Given the description of an element on the screen output the (x, y) to click on. 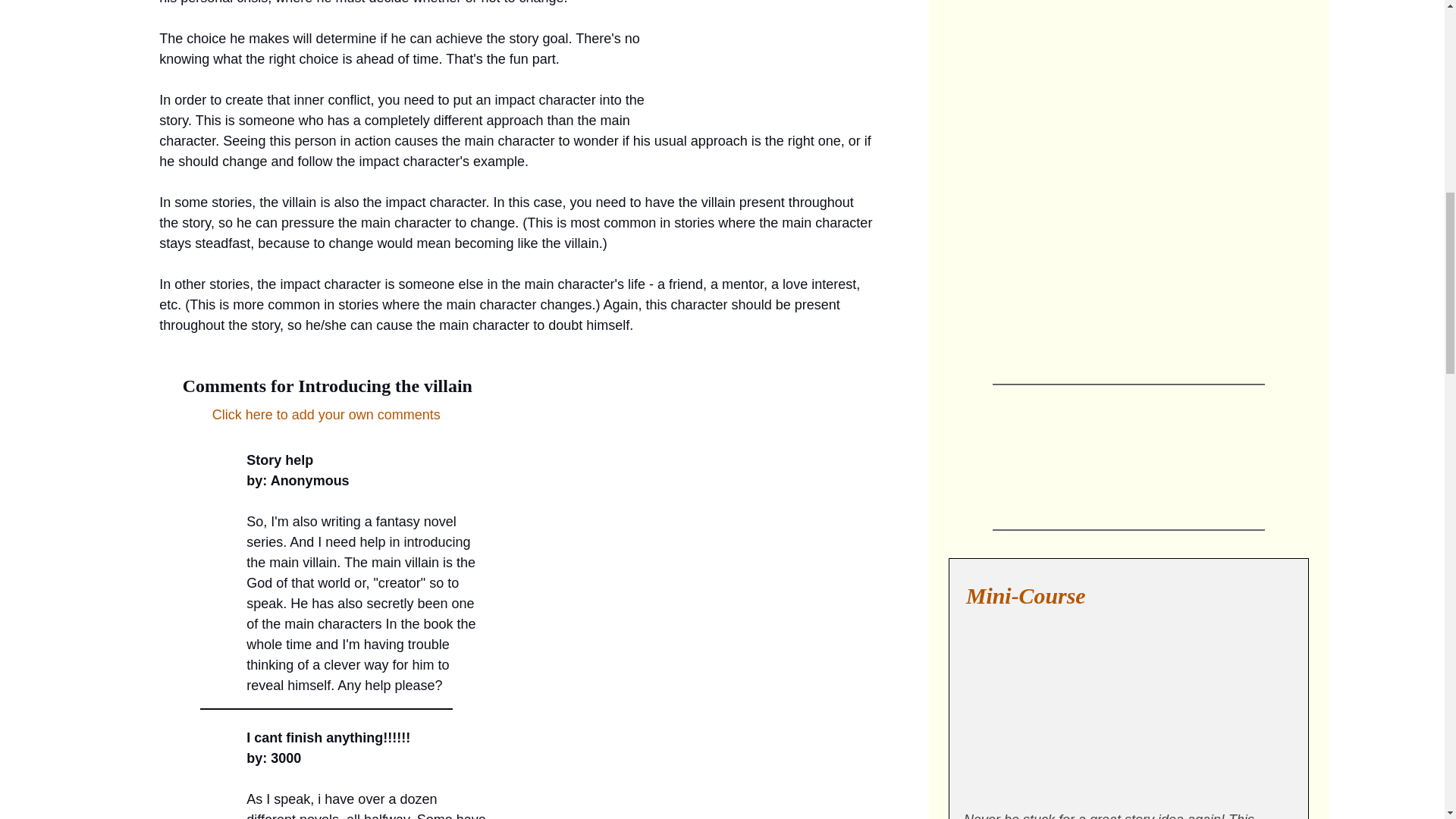
seven basic plots (1141, 309)
how to write mystery (1009, 309)
Go to The Nine Basic Plots (1015, 230)
Go to Write Compelling Story Ideas: Online Course (1128, 785)
how to write horror (1141, 49)
Go to Understanding the Seven Basic Plots (1147, 365)
100 Best Websites for Writers 2018 (1006, 449)
compelling story ideas (1128, 706)
write a synopsis (1009, 49)
plot outline (1141, 174)
